Given the description of an element on the screen output the (x, y) to click on. 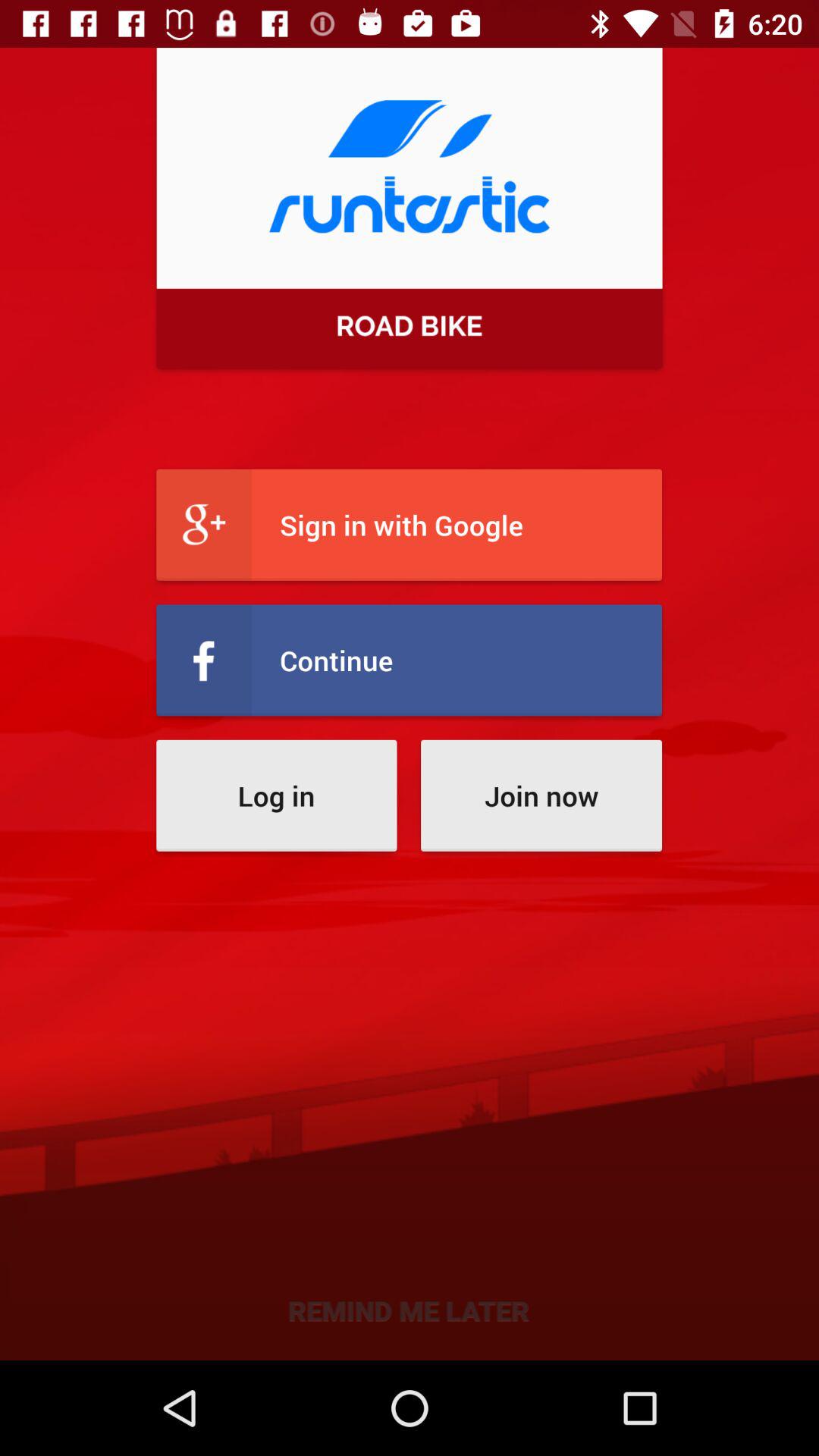
click icon below log in (409, 1309)
